Given the description of an element on the screen output the (x, y) to click on. 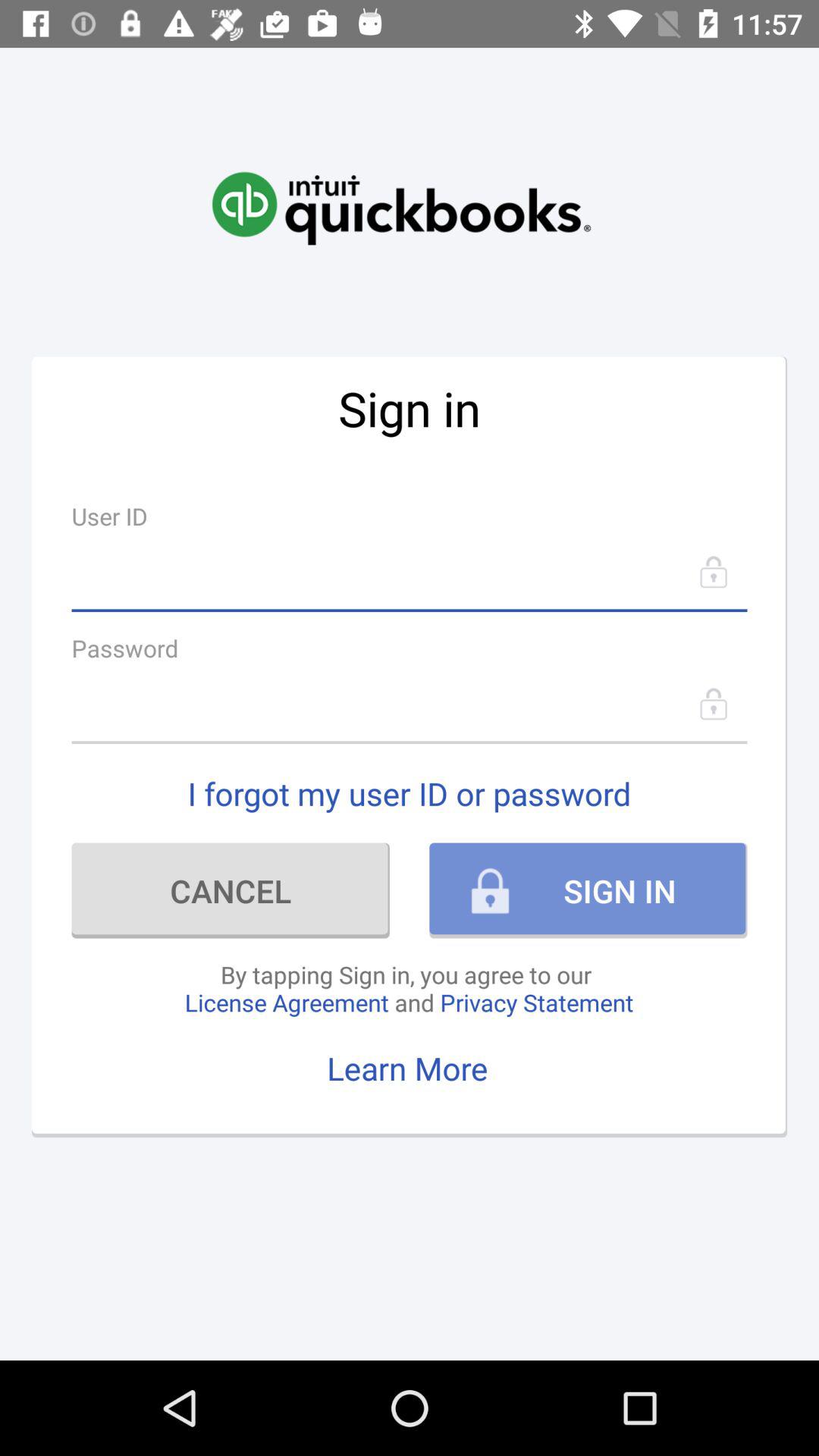
open icon to the left of sign in item (230, 890)
